Given the description of an element on the screen output the (x, y) to click on. 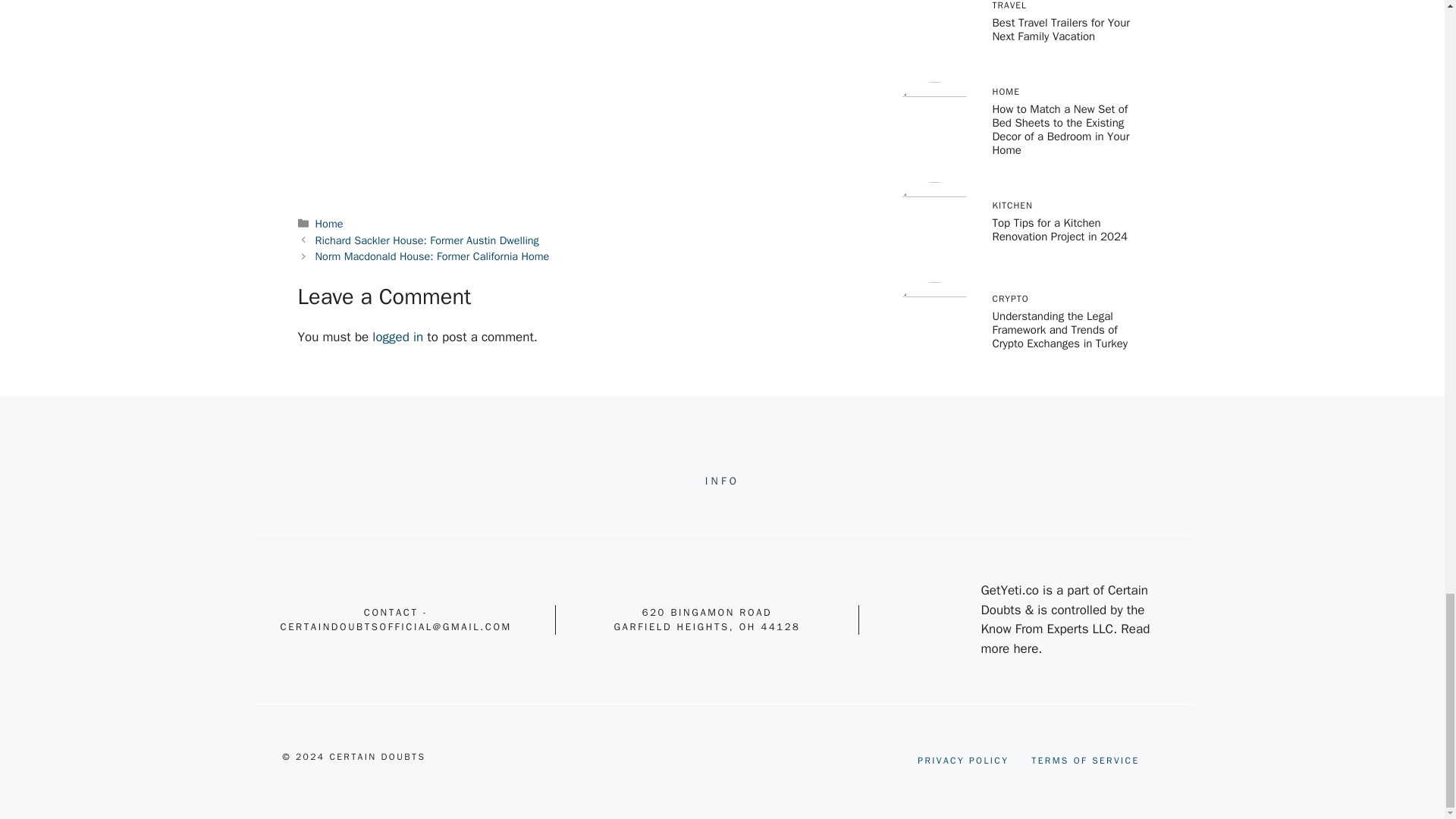
TERMS OF SERVICE (1084, 760)
PRIVACY POLICY (963, 760)
Richard Sackler House: Former Austin Dwelling (426, 240)
Norm Macdonald House: Former California Home (432, 255)
Home (329, 223)
logged in (397, 336)
